Given the description of an element on the screen output the (x, y) to click on. 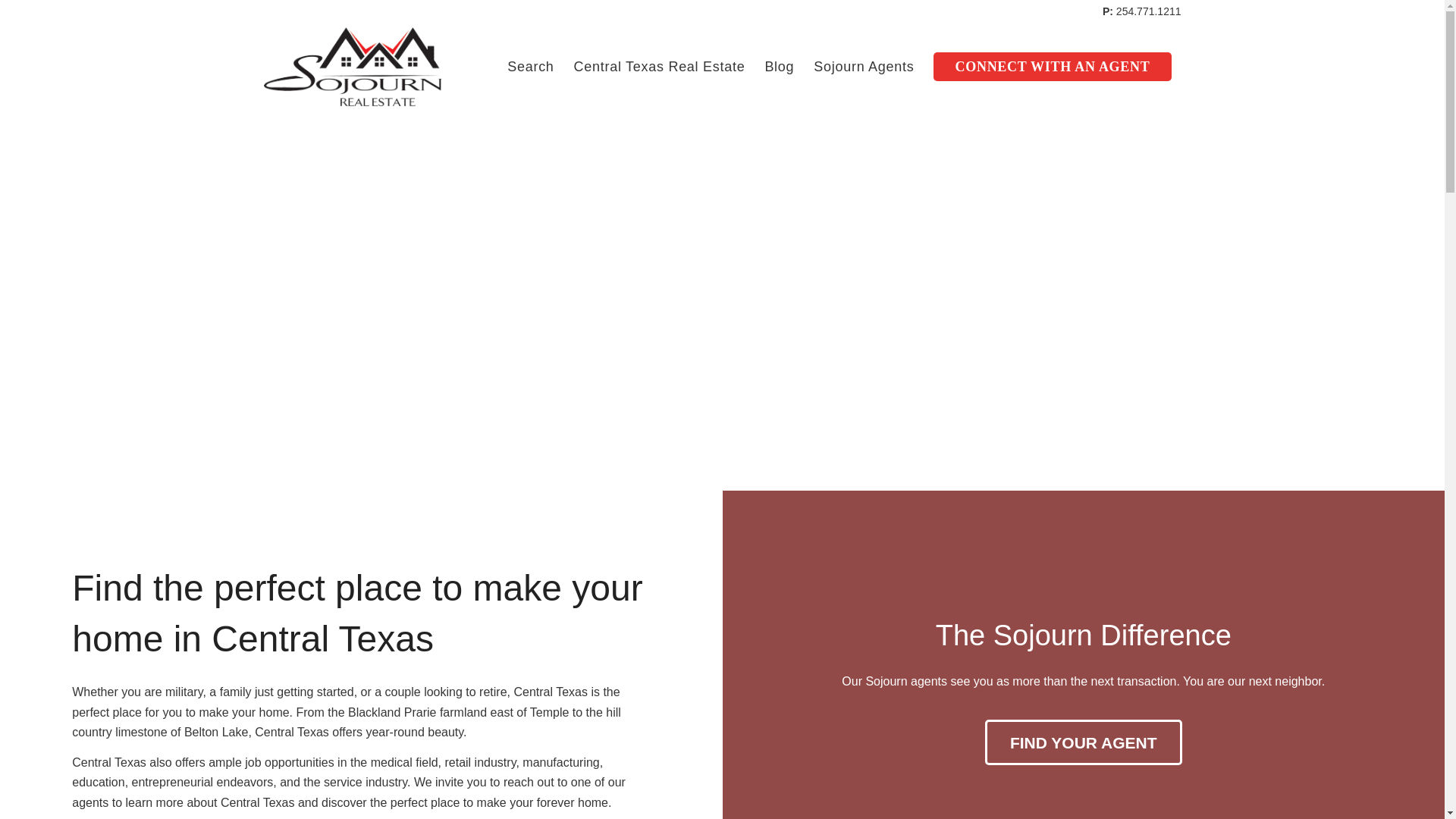
Sojourn Agents (863, 66)
Central Texas Real Estate (659, 66)
CONNECT WITH AN AGENT (1051, 66)
Sojurn-Real-Estate-Header-Logo (352, 66)
P: 254.771.1211 (1141, 11)
FIND YOUR AGENT (1083, 741)
